Given the description of an element on the screen output the (x, y) to click on. 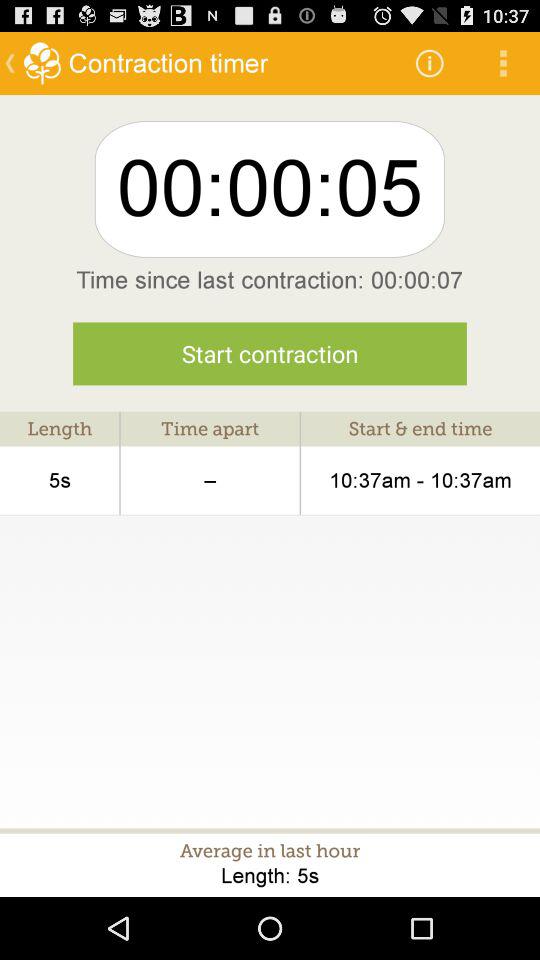
turn on the icon above time since last item (503, 62)
